Given the description of an element on the screen output the (x, y) to click on. 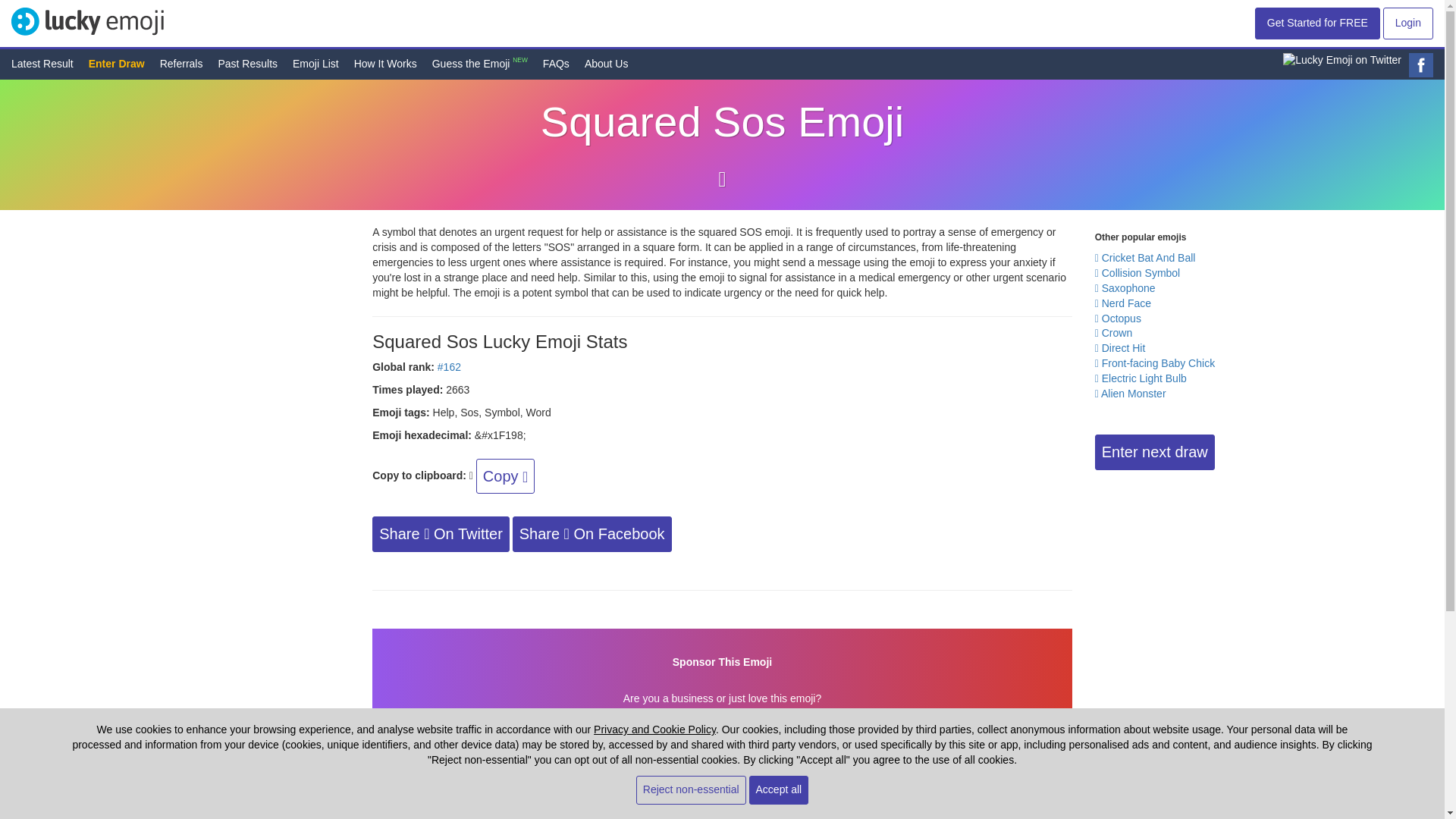
Login (1407, 23)
Get Started for FREE (1317, 23)
Enter Draw (116, 63)
Past Results (247, 63)
Guess the Emoji (471, 63)
FAQs (556, 63)
Enter next draw (1154, 452)
Copy (505, 476)
Emoji List (315, 63)
Lucky Emoji (87, 19)
